Given the description of an element on the screen output the (x, y) to click on. 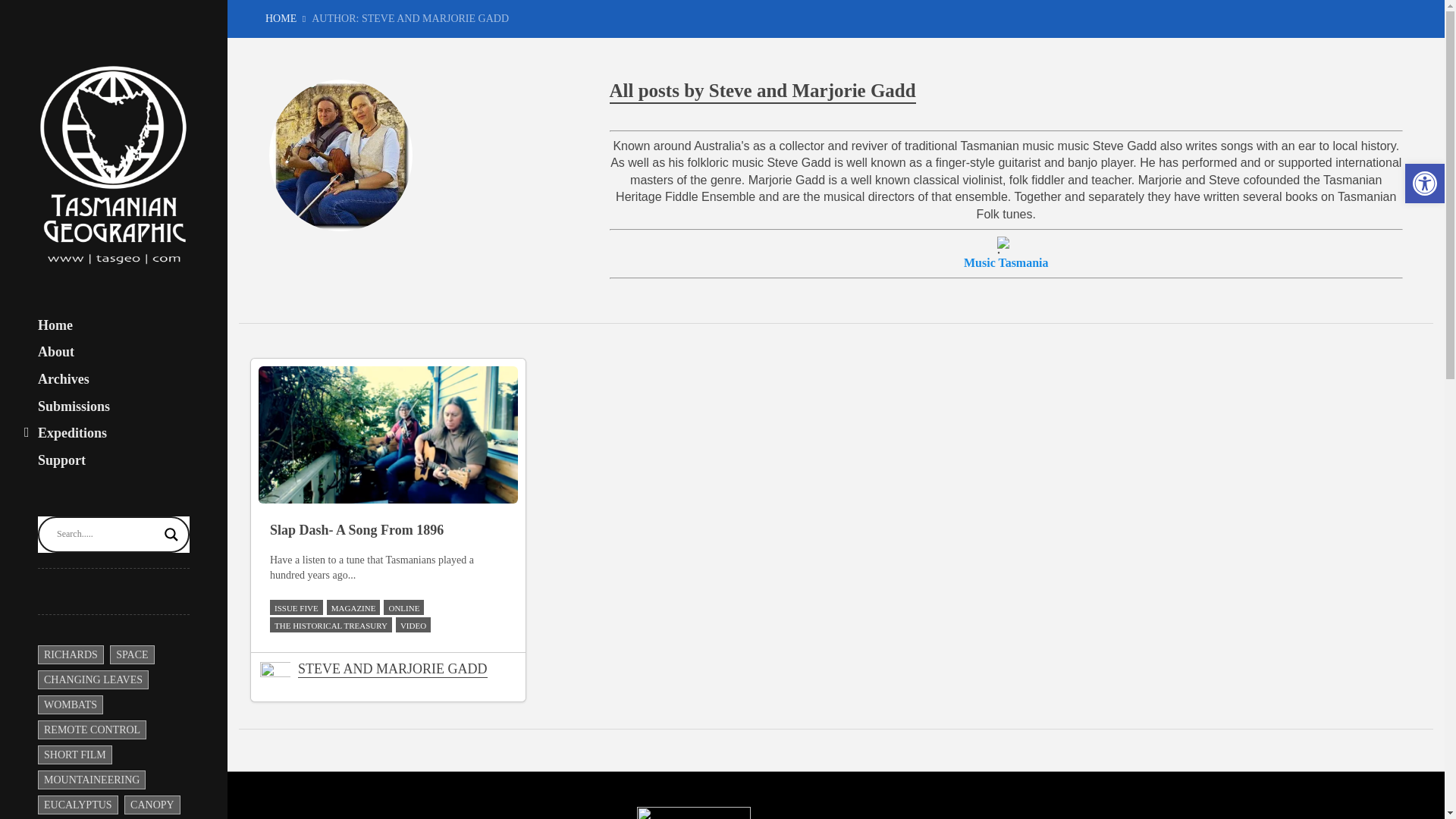
5 topics (132, 654)
EUCALYPTUS (77, 804)
CANOPY (151, 804)
SPACE (132, 654)
About (55, 351)
SHORT FILM (74, 754)
9 topics (91, 779)
1 topic (92, 729)
1 topic (70, 654)
1 topic (92, 679)
